Given the description of an element on the screen output the (x, y) to click on. 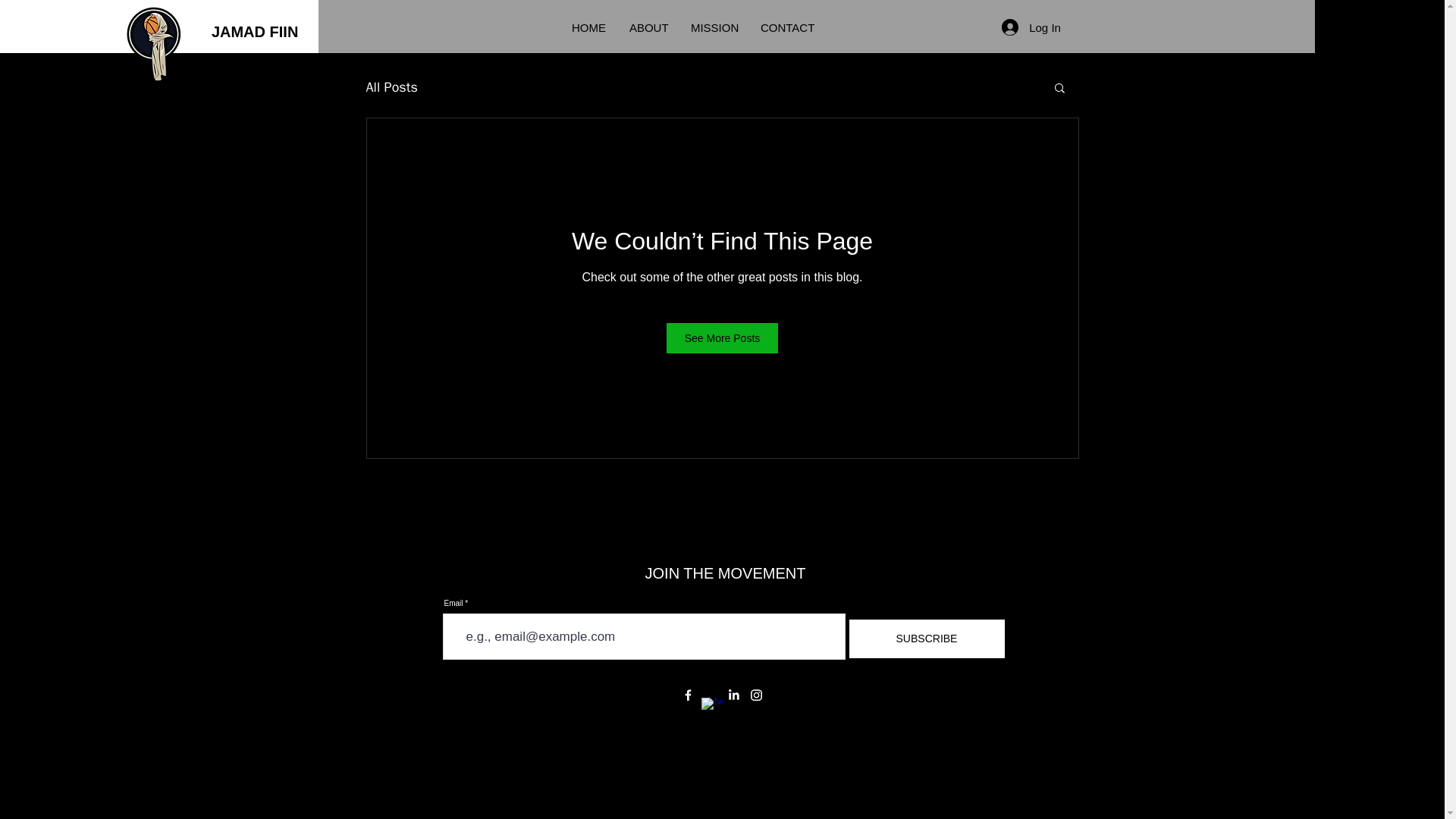
Donate (1378, 27)
All Posts (390, 86)
HOME (588, 28)
CONTACT (788, 28)
SUBSCRIBE (925, 638)
JAMAD FIIN (261, 31)
Log In (1031, 27)
See More Posts (722, 337)
ABOUT (648, 28)
MISSION (714, 28)
